Given the description of an element on the screen output the (x, y) to click on. 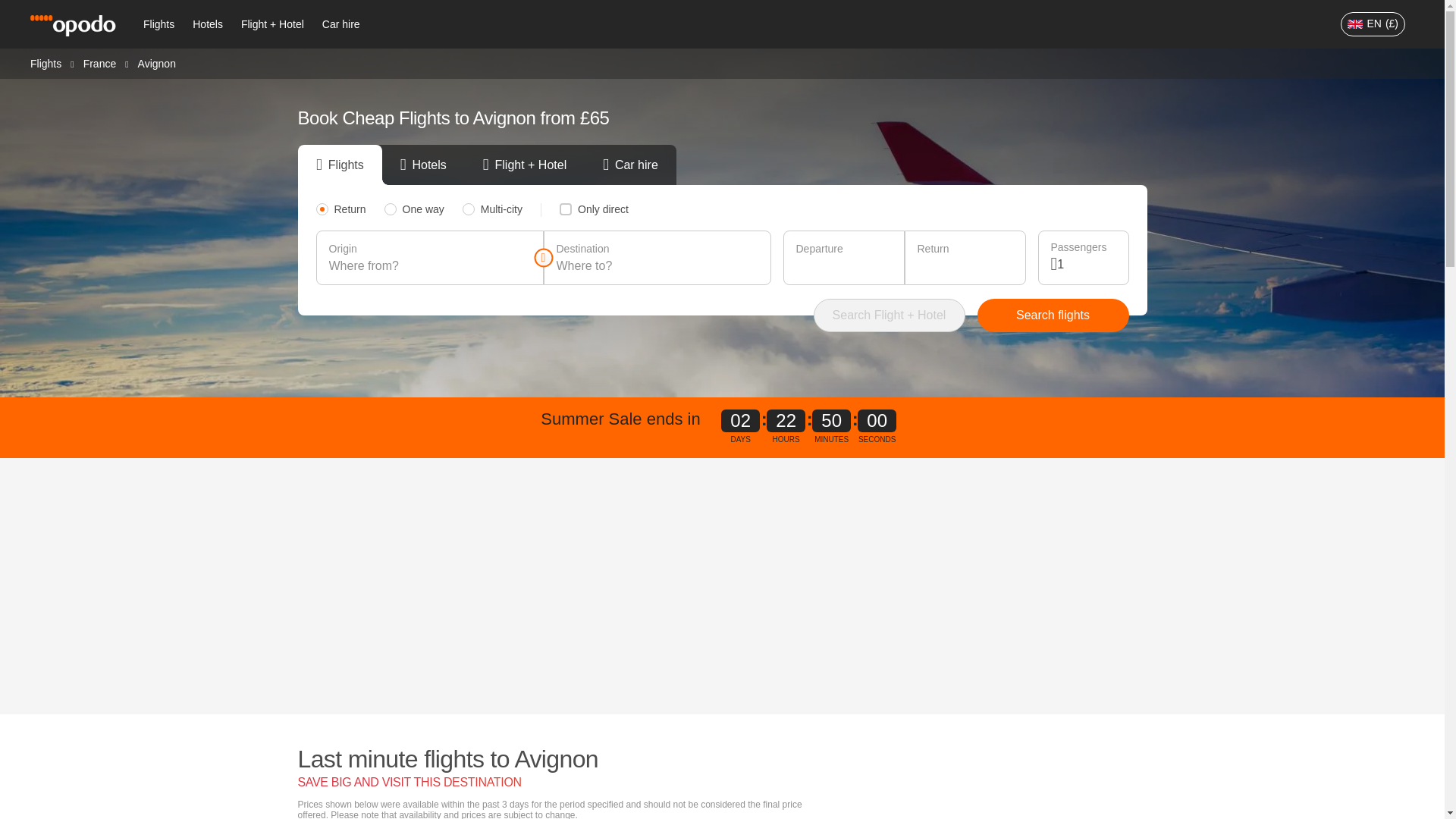
Flights (158, 24)
Flights (45, 62)
Search flights (1052, 315)
Hotels (207, 24)
Avignon (157, 63)
Car hire (341, 24)
1 (1086, 263)
France (99, 62)
